Given the description of an element on the screen output the (x, y) to click on. 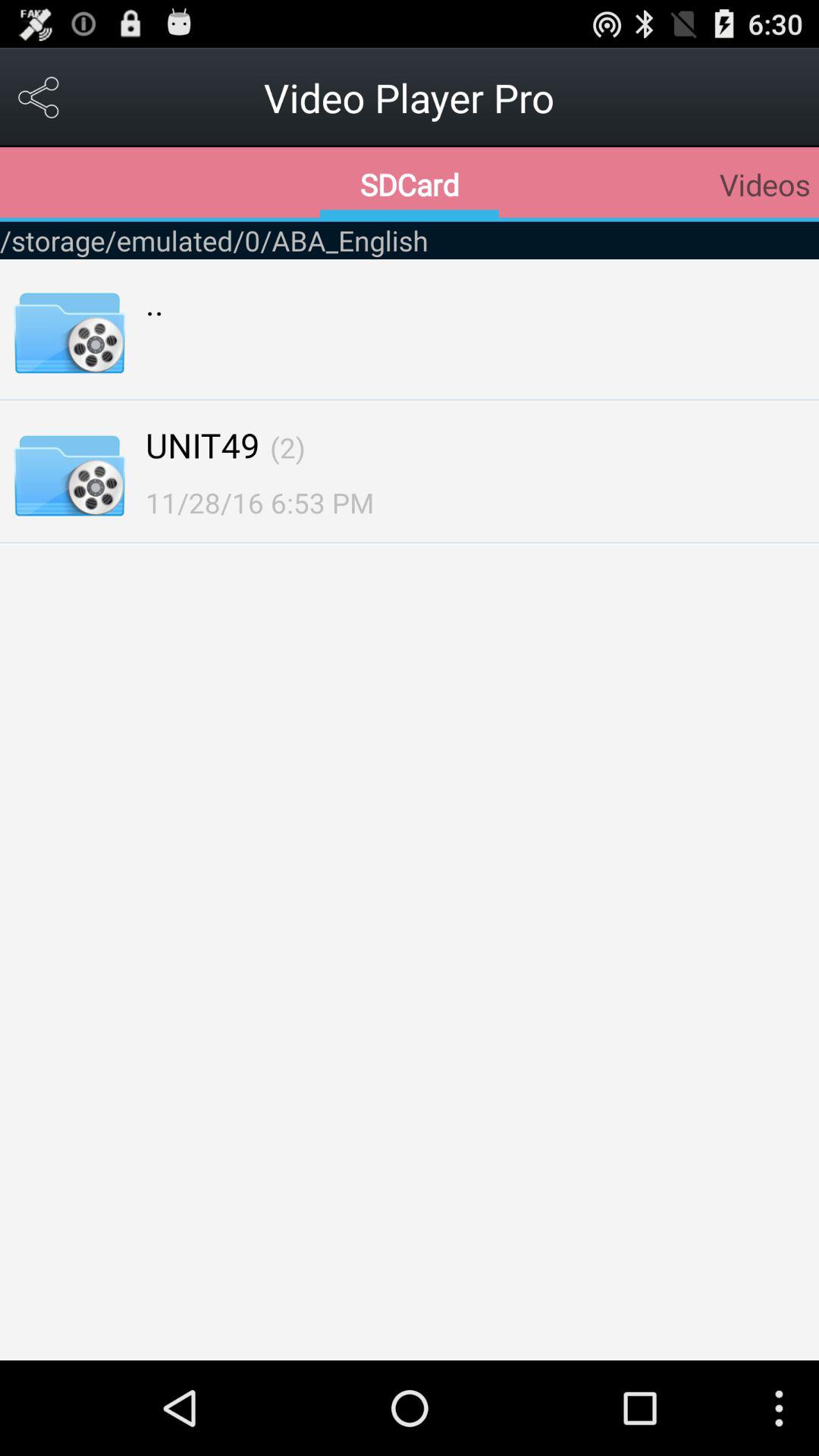
select icon to the left of the (2) app (202, 445)
